Given the description of an element on the screen output the (x, y) to click on. 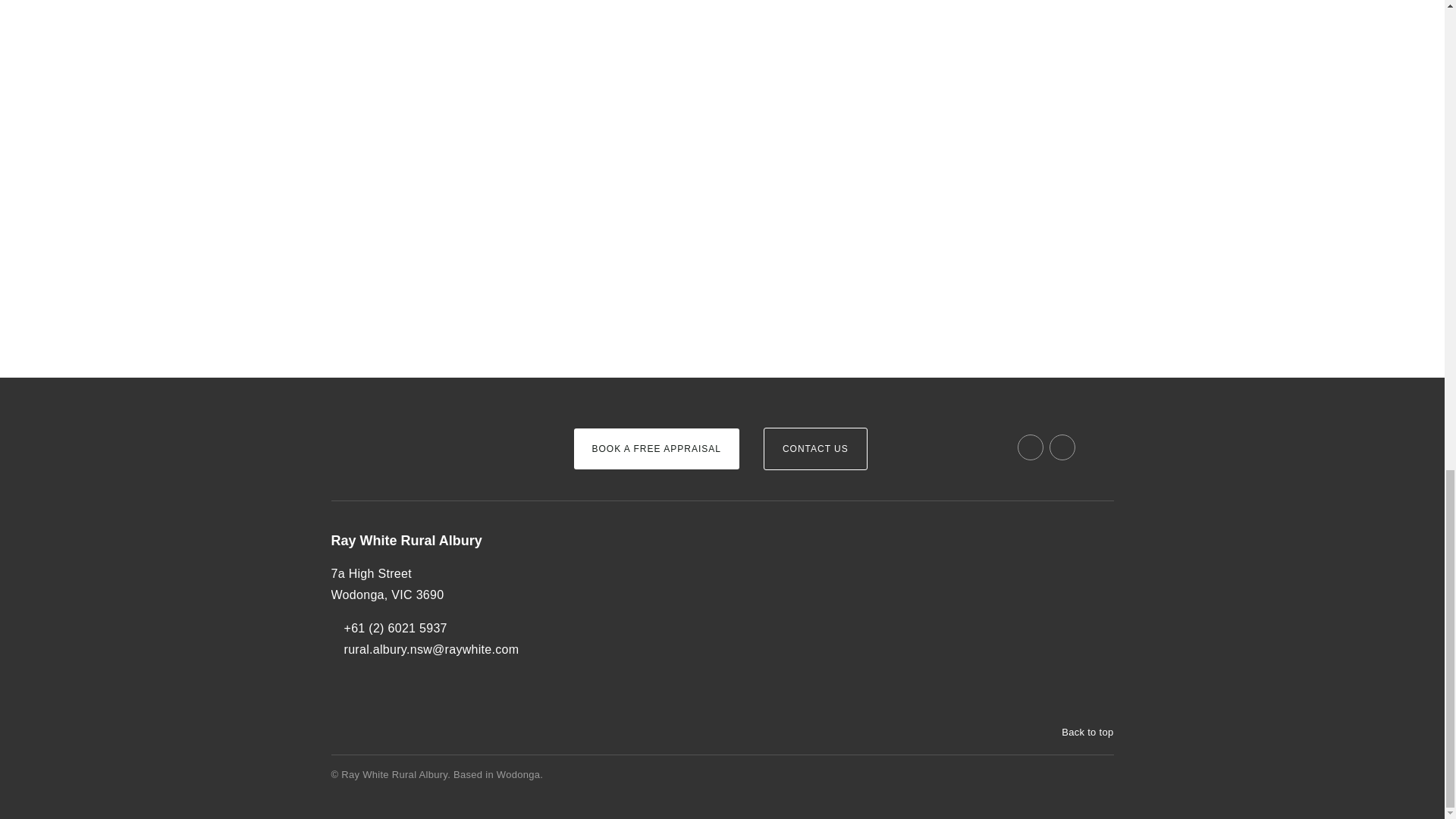
CONTACT US (814, 448)
Ray White (376, 422)
Ray White Rural Albury (439, 541)
Youtube (1062, 447)
Back to top (1079, 732)
BOOK A FREE APPRAISAL (655, 448)
Facebook (1030, 447)
